Given the description of an element on the screen output the (x, y) to click on. 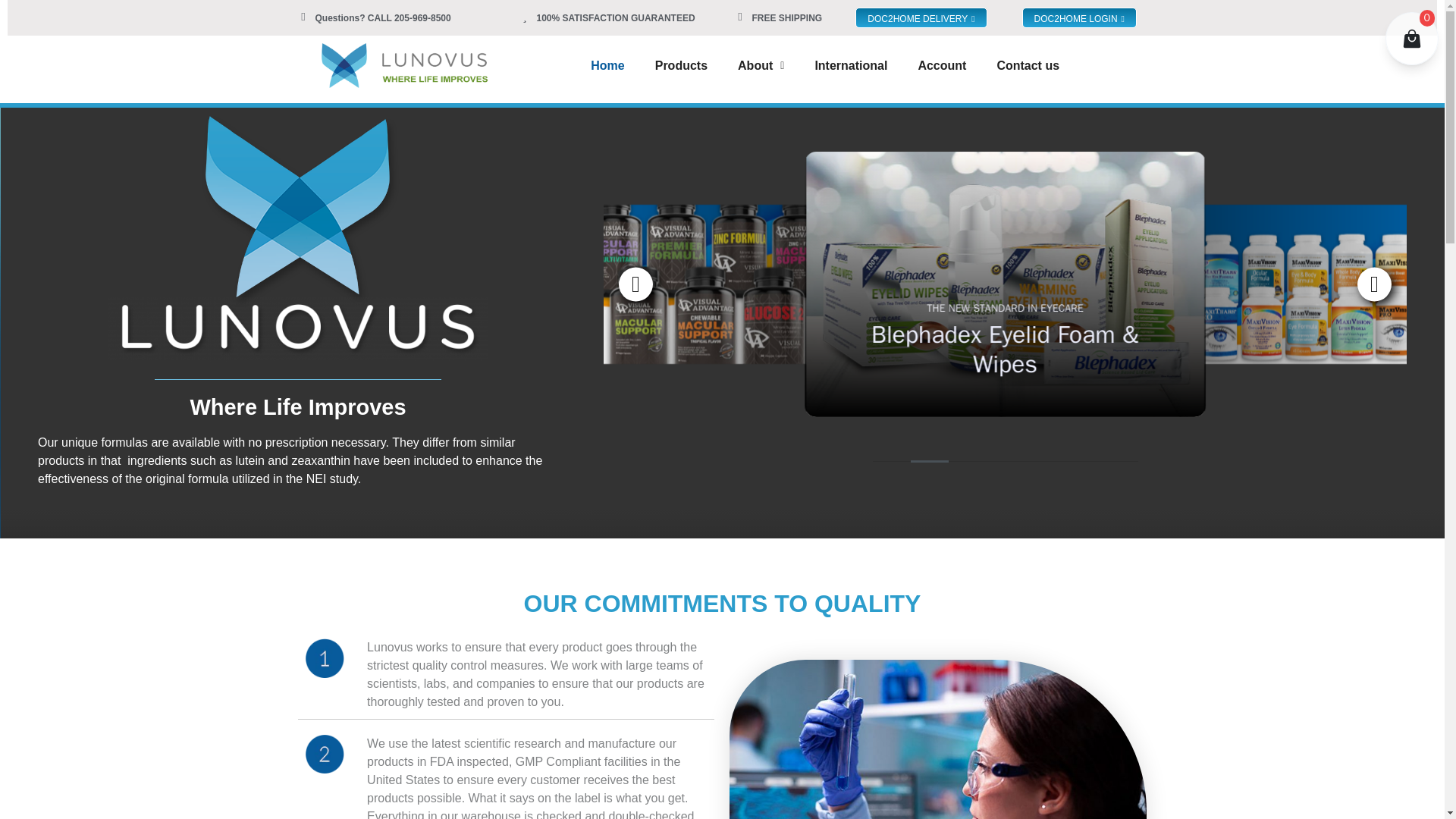
DOC2HOME DELIVERY (921, 17)
Products (681, 65)
Home (606, 65)
International (850, 65)
About (760, 65)
Questions? CALL 205-969-8500 (383, 17)
DOC2HOME LOGIN (1079, 17)
Account (940, 65)
Contact us (1027, 65)
